Given the description of an element on the screen output the (x, y) to click on. 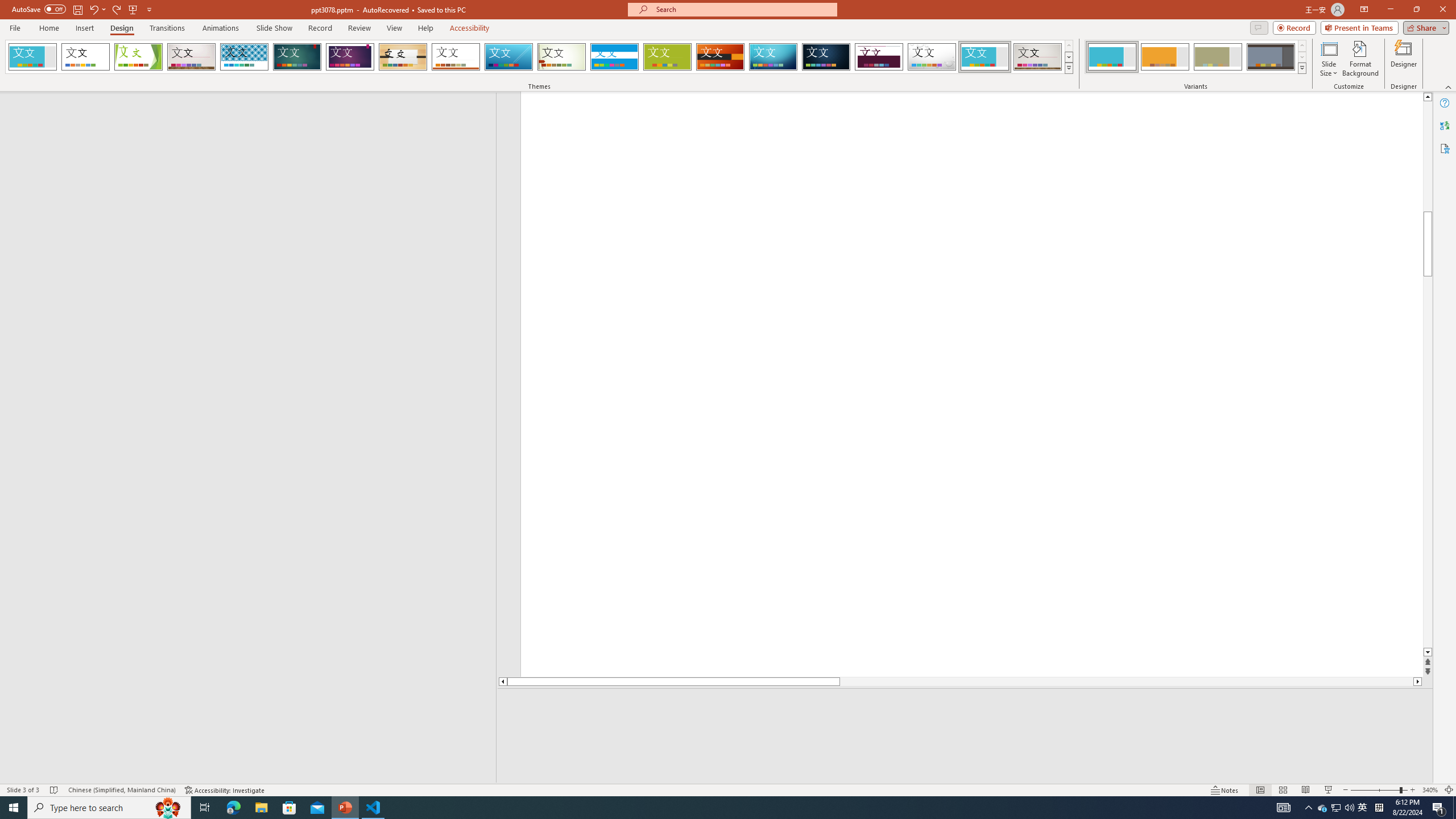
Ion Boardroom (350, 56)
Outline (252, 114)
Droplet (931, 56)
Retrospect (455, 56)
AutomationID: ThemeVariantsGallery (1195, 56)
Format Background (1360, 58)
Organic (403, 56)
